Given the description of an element on the screen output the (x, y) to click on. 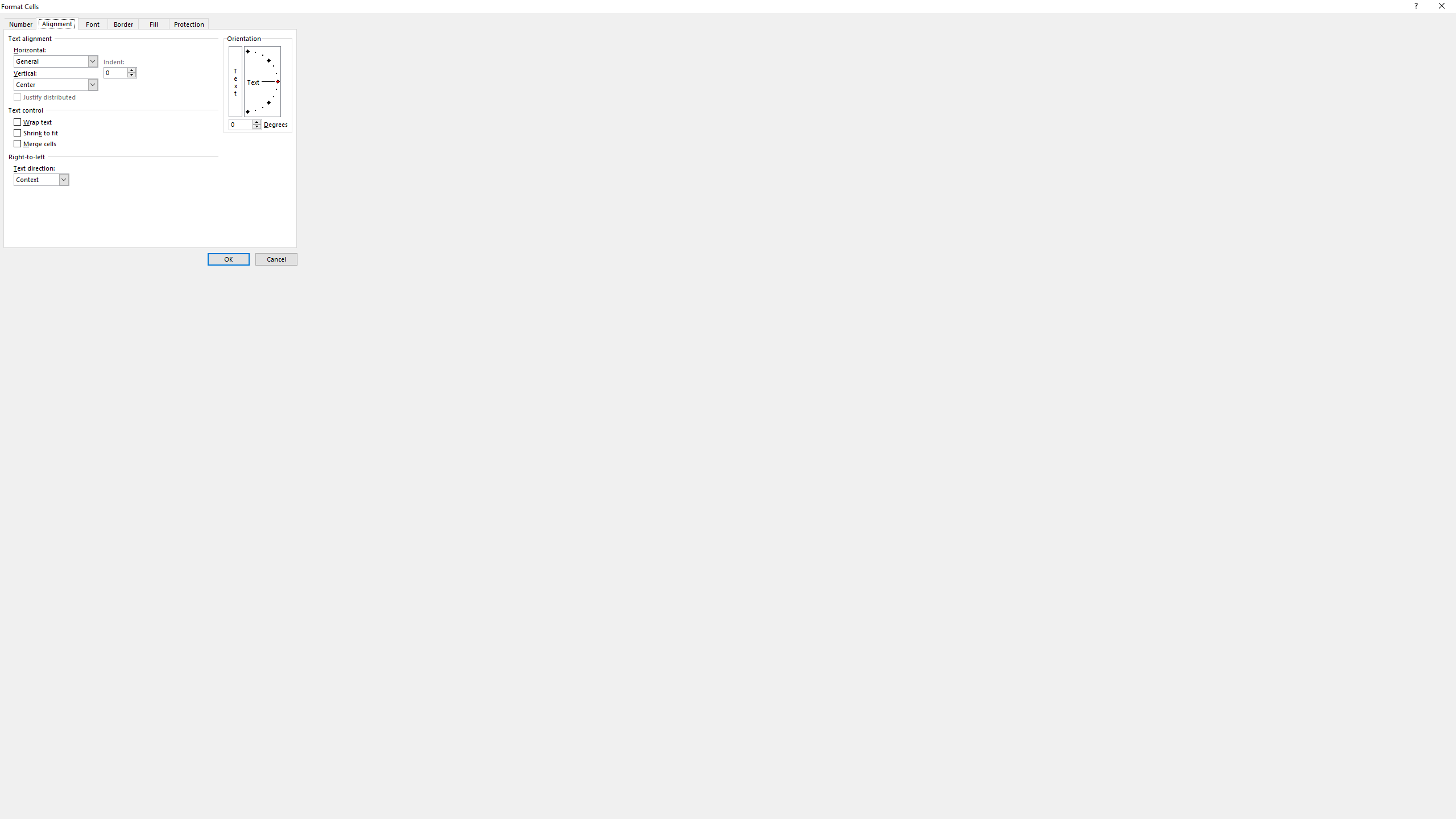
Cancel (276, 259)
Border (122, 23)
Degrees (245, 124)
Font (92, 23)
Vertical Text (234, 81)
Text direction: (41, 179)
